Given the description of an element on the screen output the (x, y) to click on. 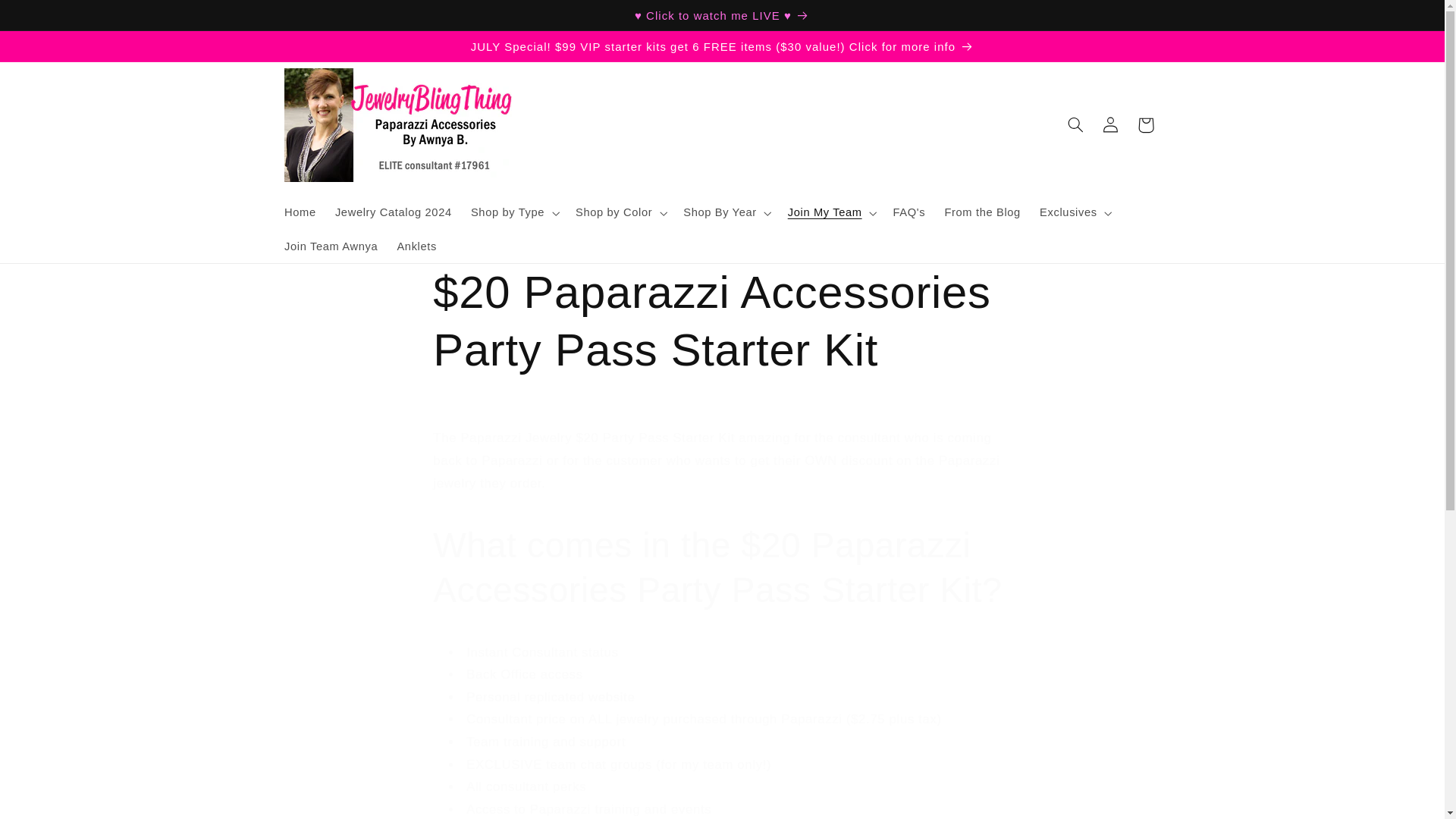
Skip to content (48, 18)
